Given the description of an element on the screen output the (x, y) to click on. 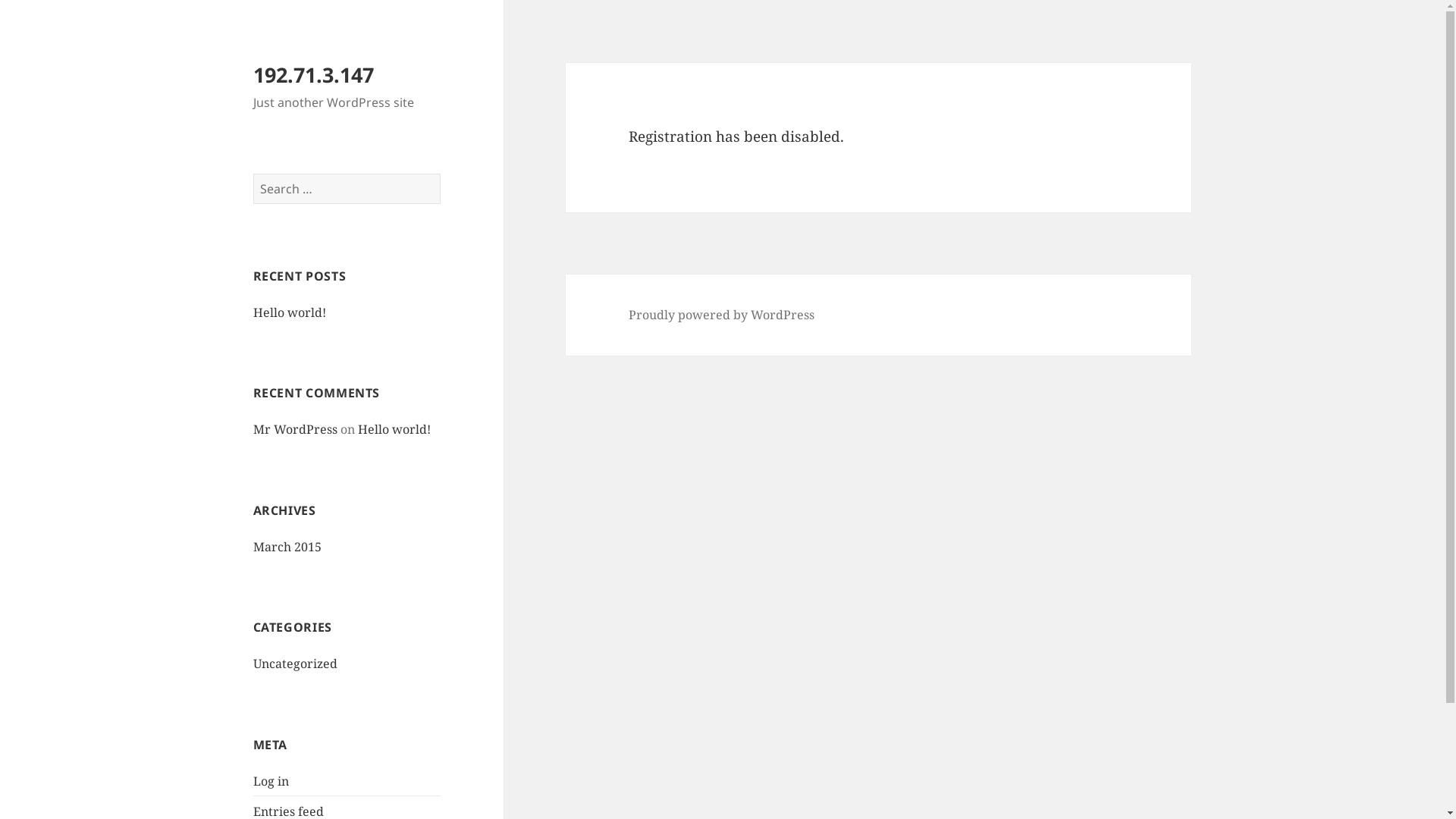
Log in Element type: text (270, 780)
192.71.3.147 Element type: text (313, 74)
Proudly powered by WordPress Element type: text (721, 314)
Hello world! Element type: text (393, 428)
Uncategorized Element type: text (295, 663)
Hello world! Element type: text (289, 312)
Mr WordPress Element type: text (295, 428)
Search Element type: text (439, 172)
March 2015 Element type: text (287, 546)
